Given the description of an element on the screen output the (x, y) to click on. 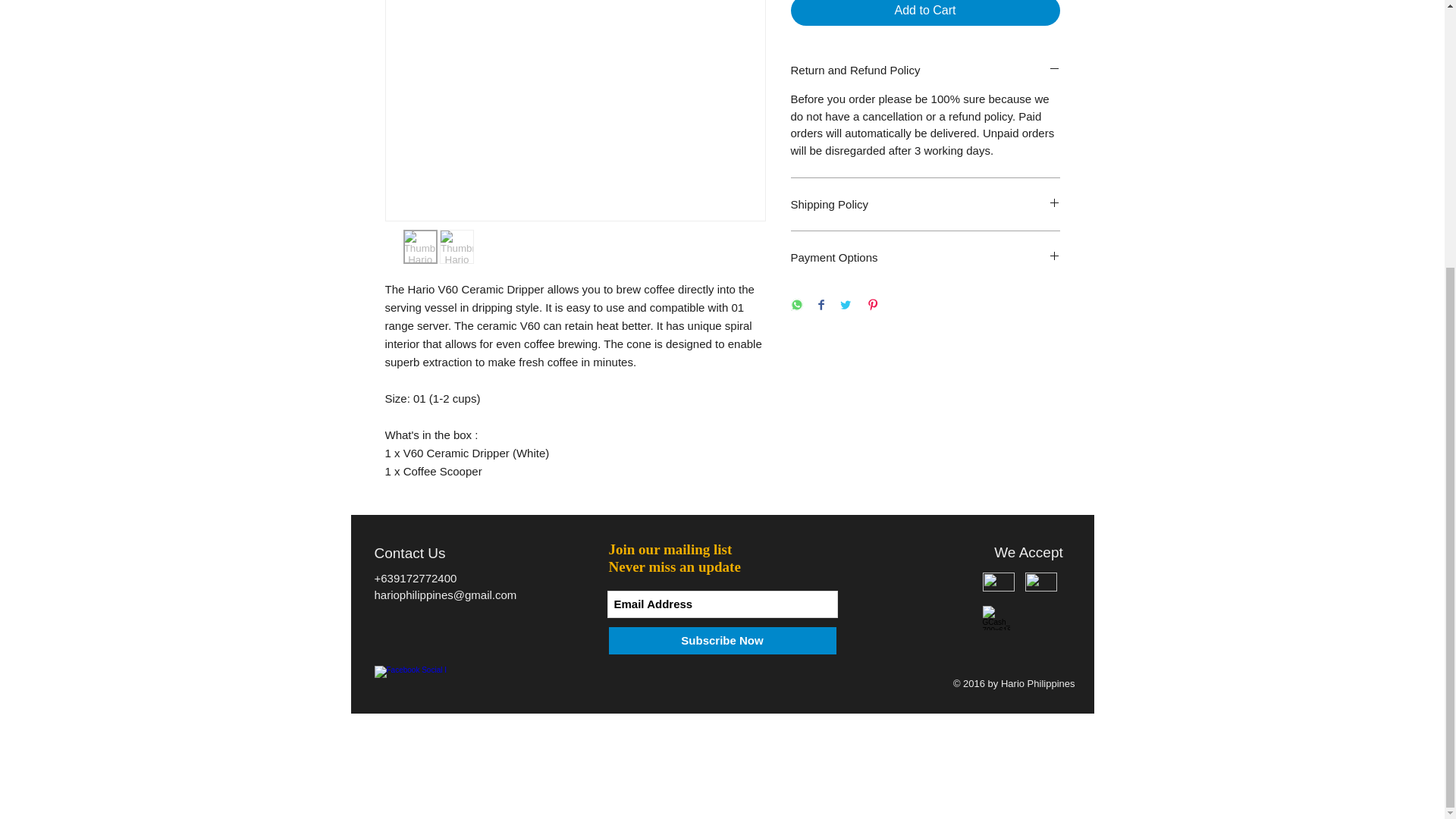
Facebook Like (441, 682)
Payment Options (924, 257)
Subscribe Now (722, 640)
Return and Refund Policy (924, 69)
Add to Cart (924, 12)
Shipping Policy (924, 204)
